Given the description of an element on the screen output the (x, y) to click on. 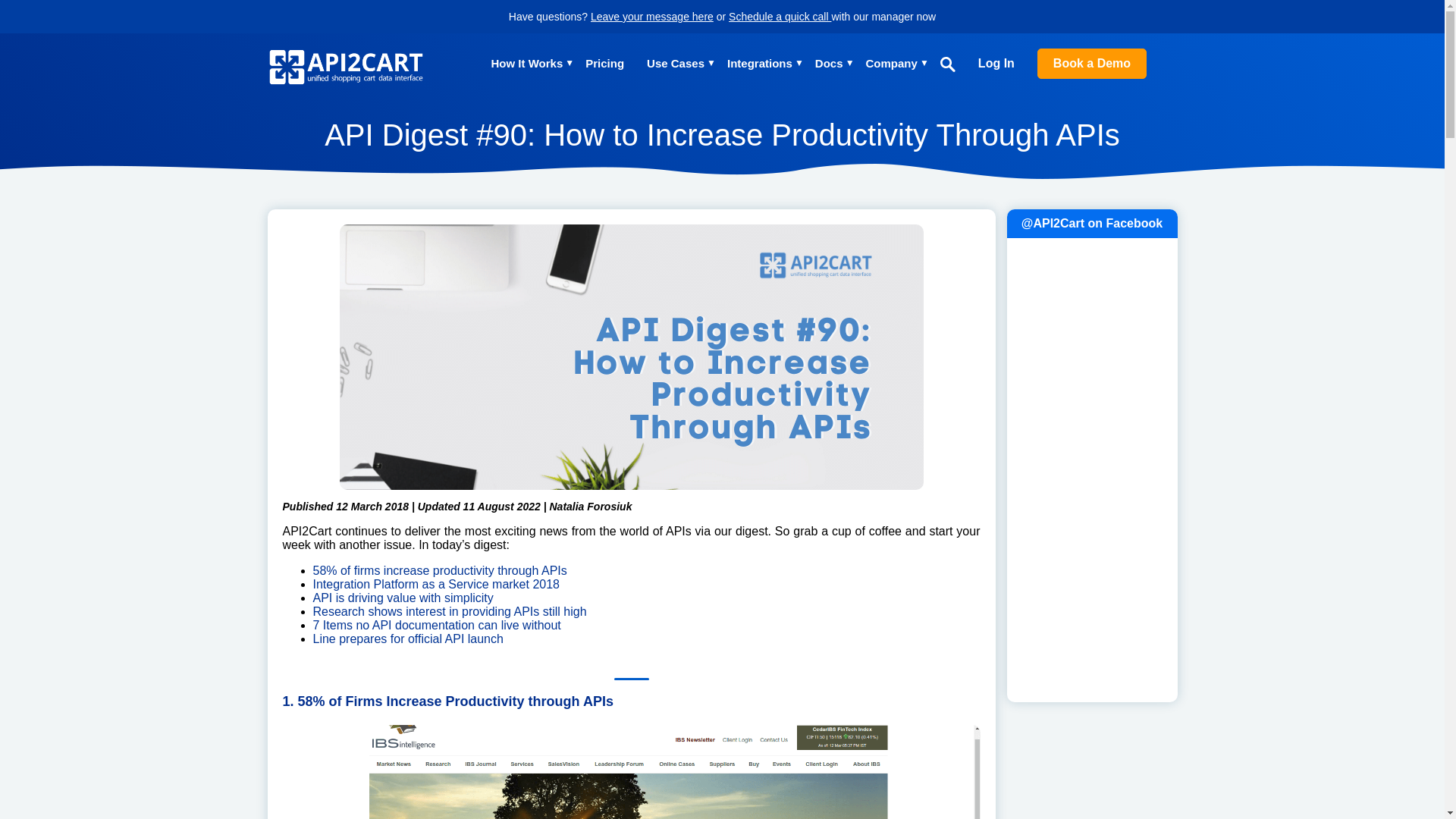
Pricing (604, 64)
How It Works (527, 64)
Pricing (604, 64)
Use Cases (675, 64)
Use Cases (675, 64)
Integrations (759, 64)
How It Works (527, 64)
Leave your message here (652, 16)
Schedule a quick call (780, 16)
